Given the description of an element on the screen output the (x, y) to click on. 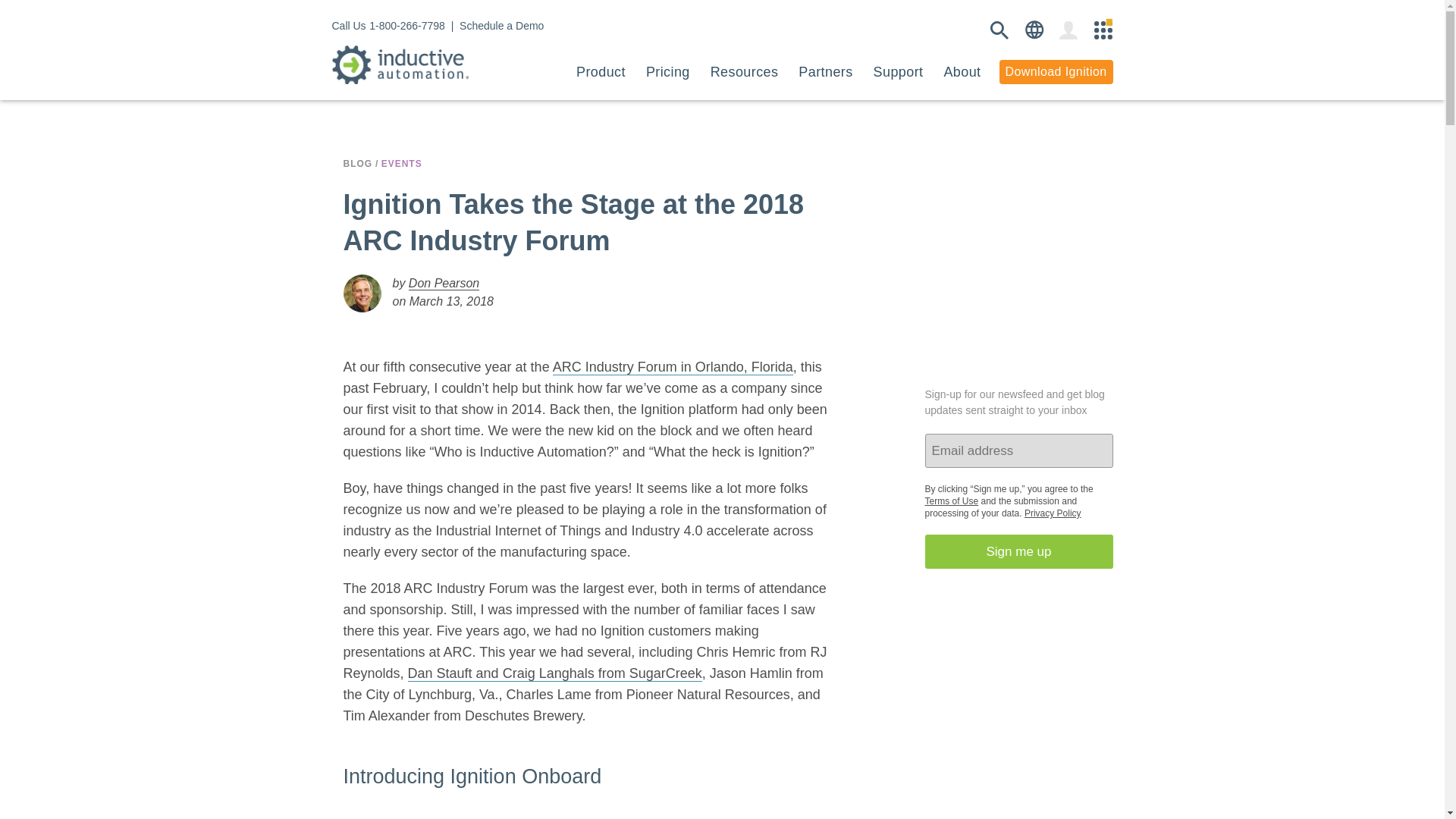
Ignition Aids Major Growth for Food-Industry Leader (554, 673)
ARC 2018 - Orlando (673, 367)
More posts by Don Pearson (444, 283)
